Given the description of an element on the screen output the (x, y) to click on. 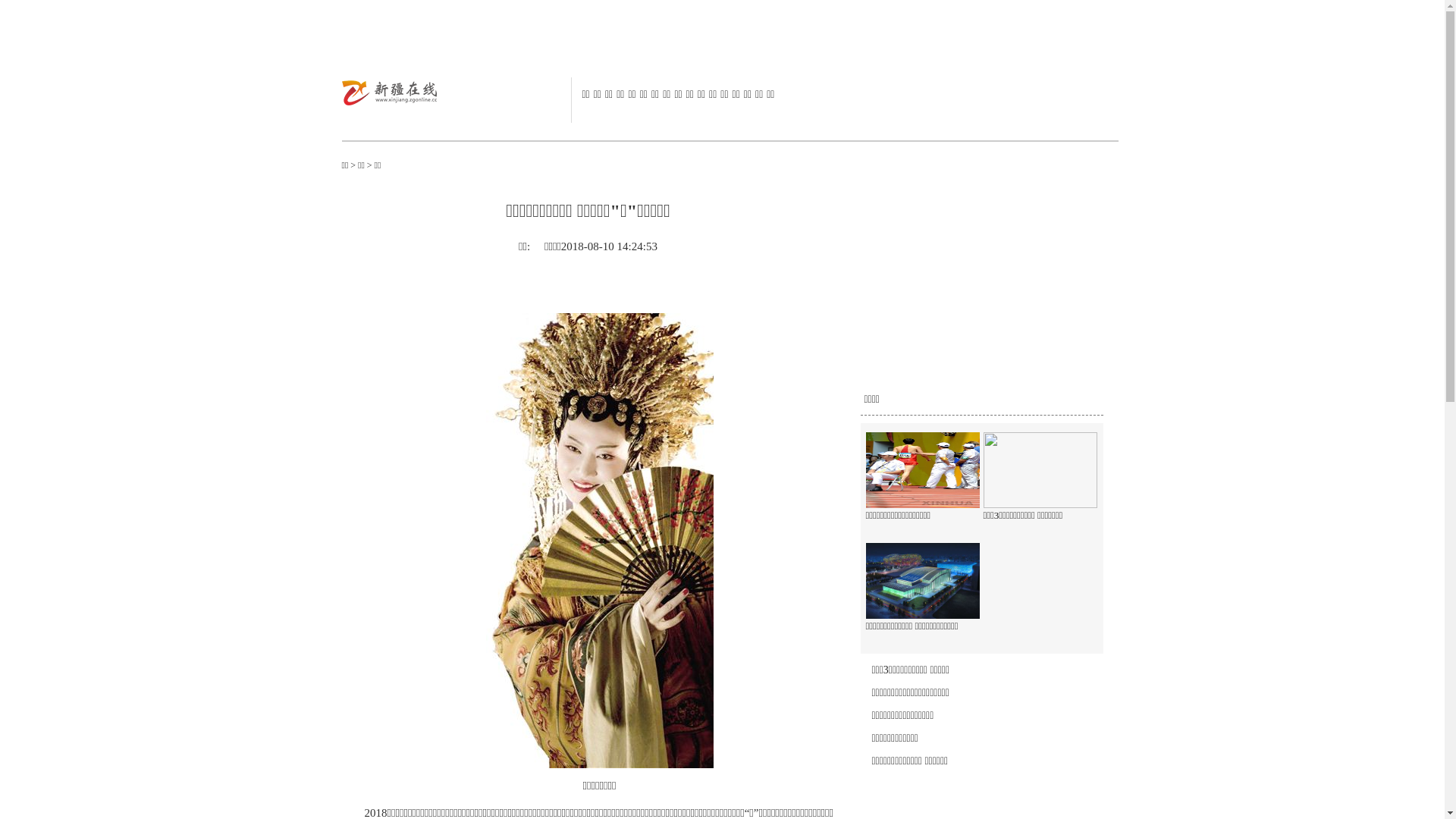
Advertisement Element type: hover (973, 289)
Advertisement Element type: hover (710, 34)
